Given the description of an element on the screen output the (x, y) to click on. 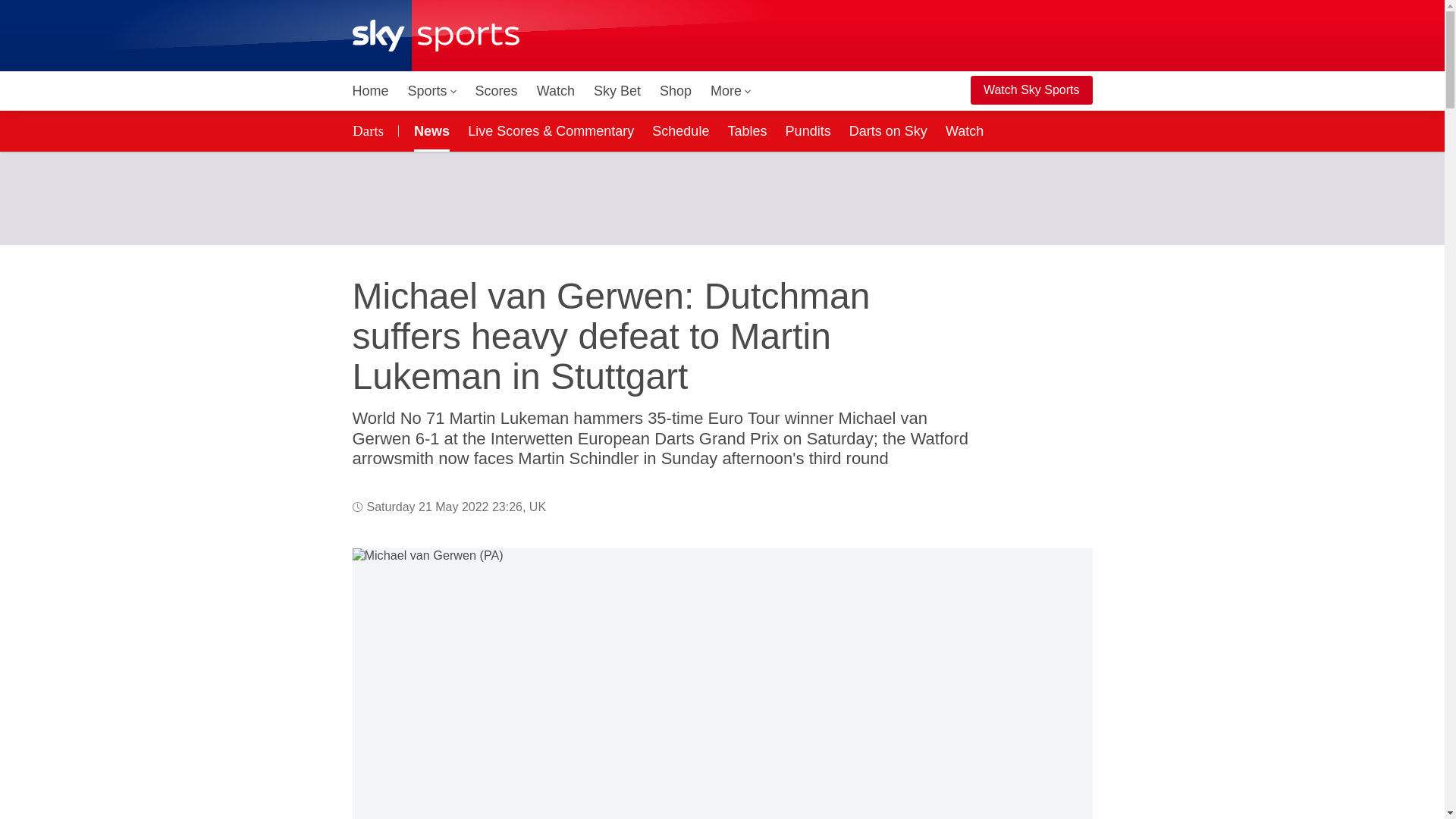
Watch Sky Sports (1032, 90)
Home (369, 91)
Pundits (808, 130)
News (428, 130)
Sports (432, 91)
Sky Bet (616, 91)
Darts (370, 130)
Watch (555, 91)
More (730, 91)
Tables (746, 130)
Schedule (680, 130)
Scores (496, 91)
Shop (675, 91)
